Given the description of an element on the screen output the (x, y) to click on. 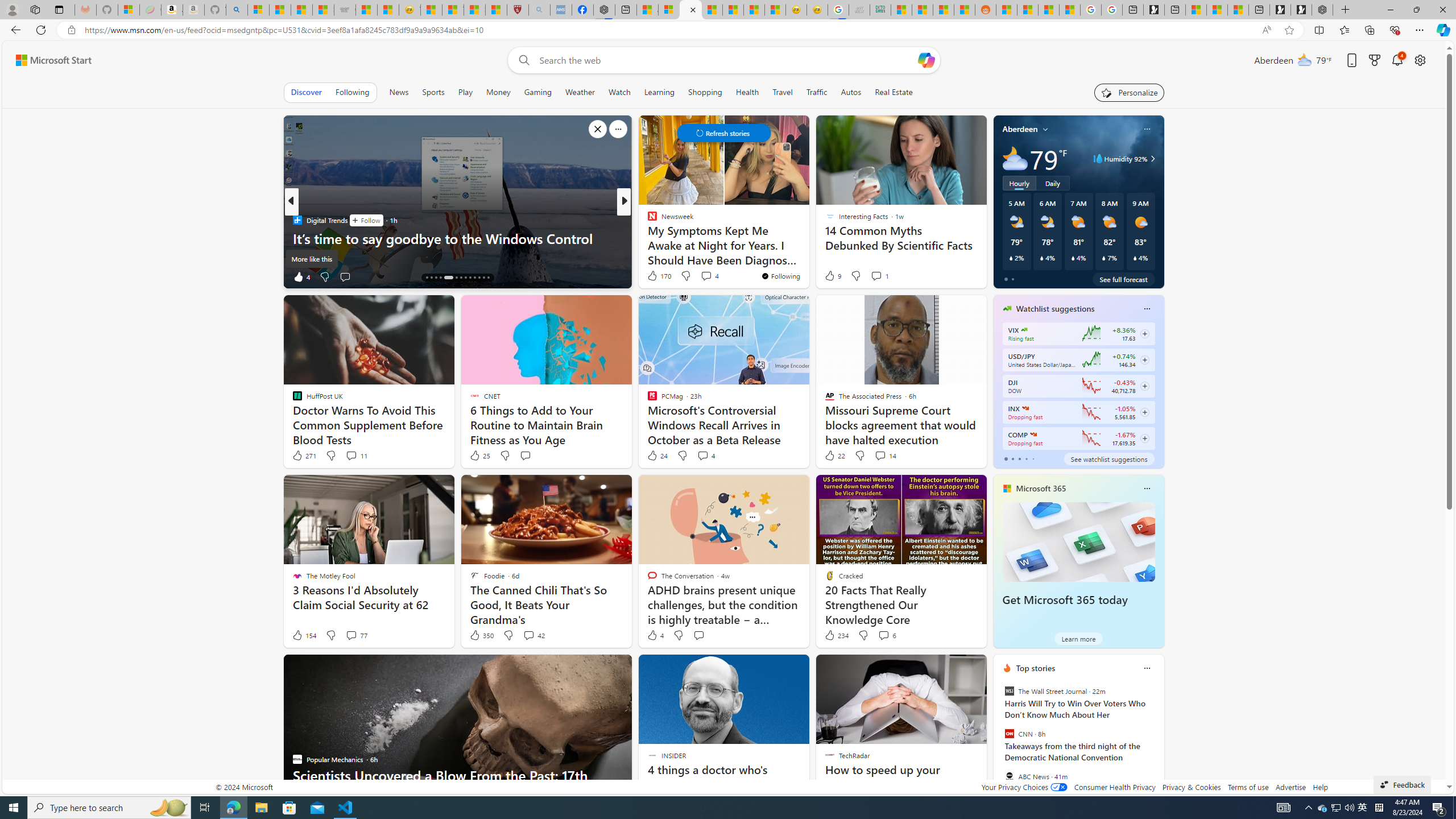
S&P 500 (1025, 407)
AutomationID: tab-18 (448, 277)
Get Microsoft 365 today (1077, 541)
404 Like (654, 276)
